Given the description of an element on the screen output the (x, y) to click on. 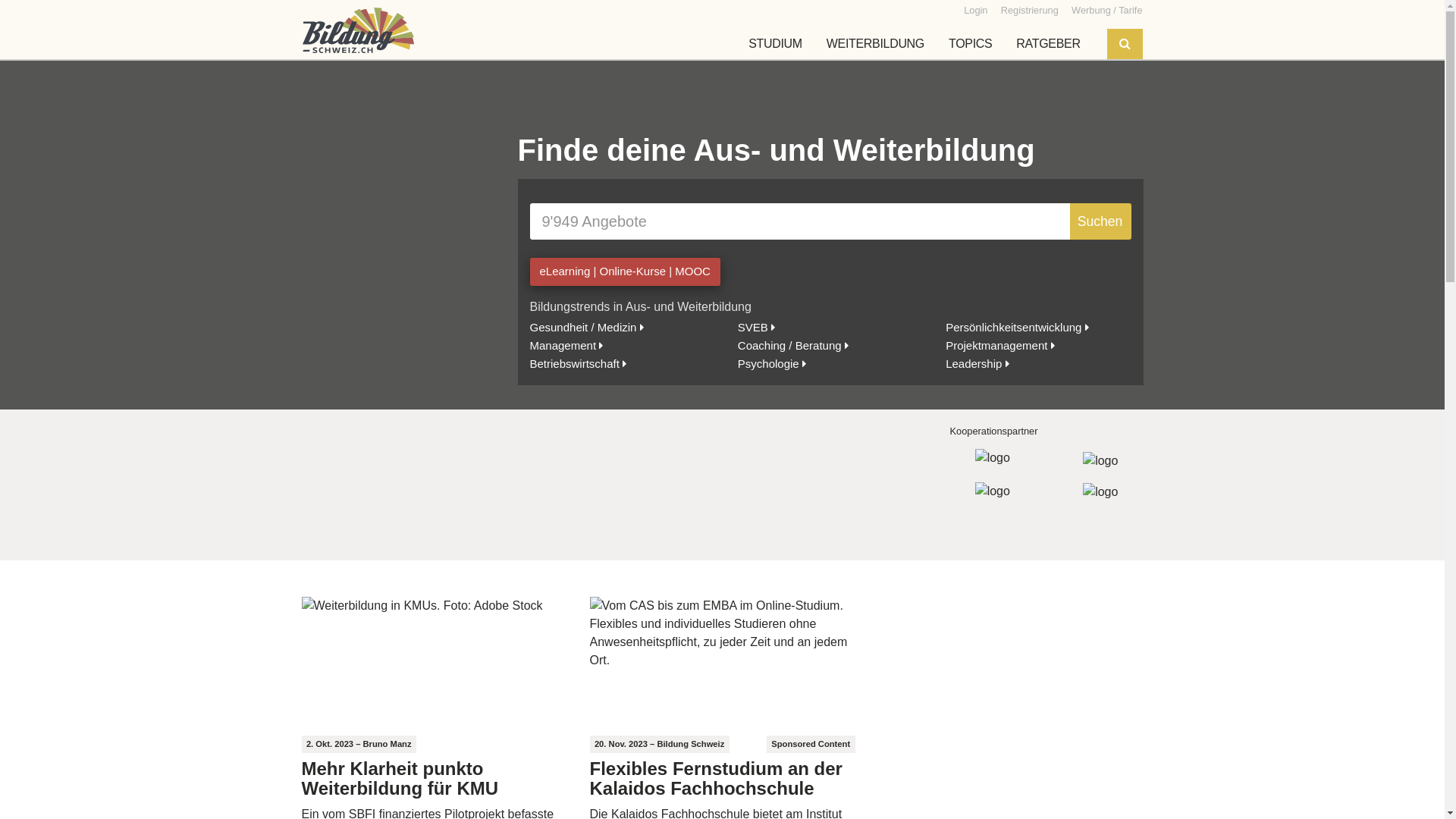
Psychologie Element type: text (771, 363)
Coaching / Beratung Element type: text (792, 344)
RATGEBER Element type: text (1048, 43)
Werbung / Tarife Element type: text (1106, 9)
eLearning | Online-Kurse | MOOC Element type: text (624, 271)
STUDIUM Element type: text (775, 43)
Projektmanagement Element type: text (999, 344)
Leadership Element type: text (976, 363)
Management Element type: text (565, 344)
WEITERBILDUNG Element type: text (875, 43)
Betriebswirtschaft Element type: text (577, 363)
Login Element type: text (975, 9)
Gesundheit / Medizin Element type: text (586, 326)
TOPICS Element type: text (970, 43)
Registrierung Element type: text (1029, 9)
SVEB Element type: text (756, 326)
Suchen Element type: text (1099, 221)
